Given the description of an element on the screen output the (x, y) to click on. 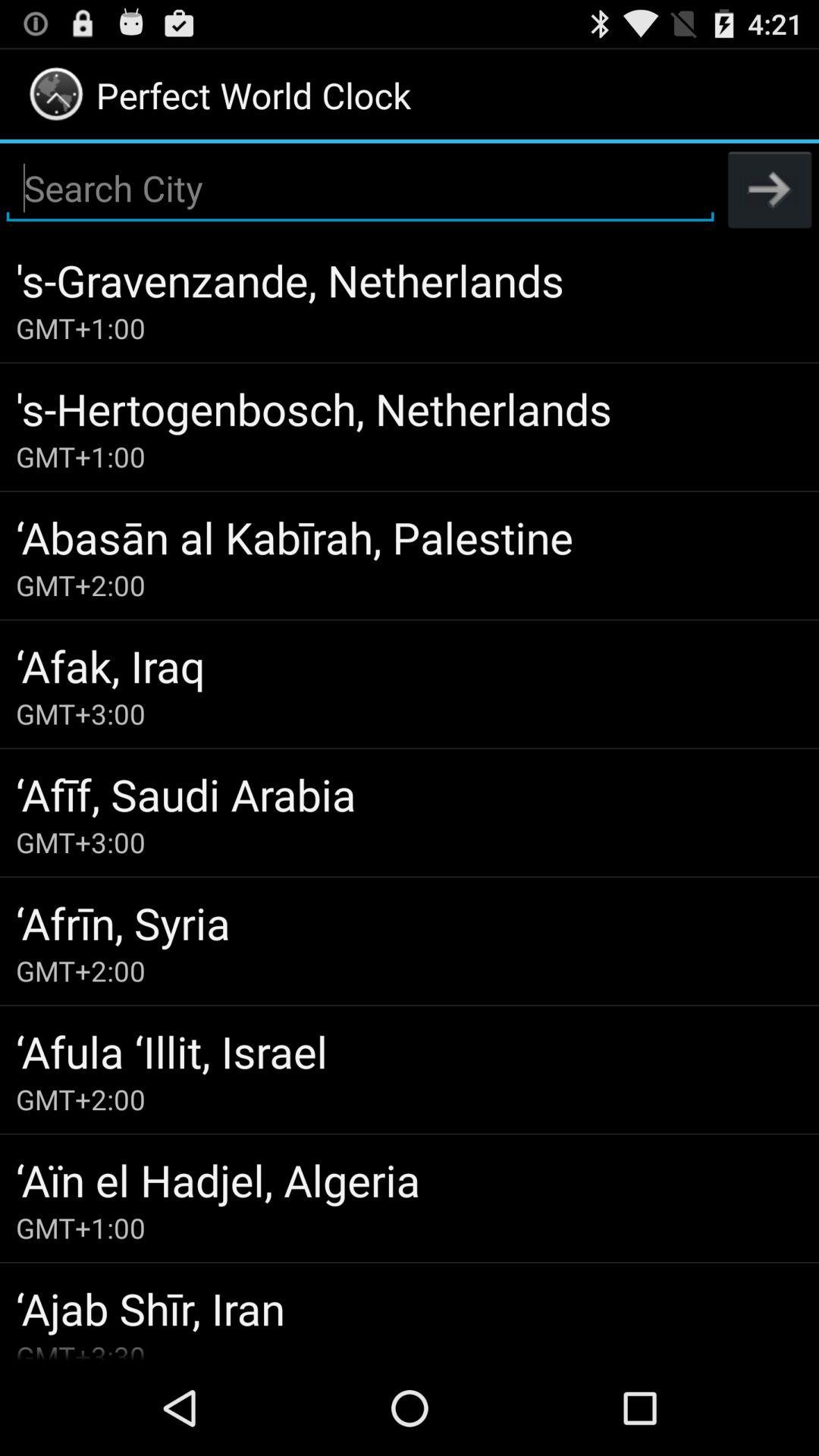
press the item above gmt+3:00 (409, 665)
